Given the description of an element on the screen output the (x, y) to click on. 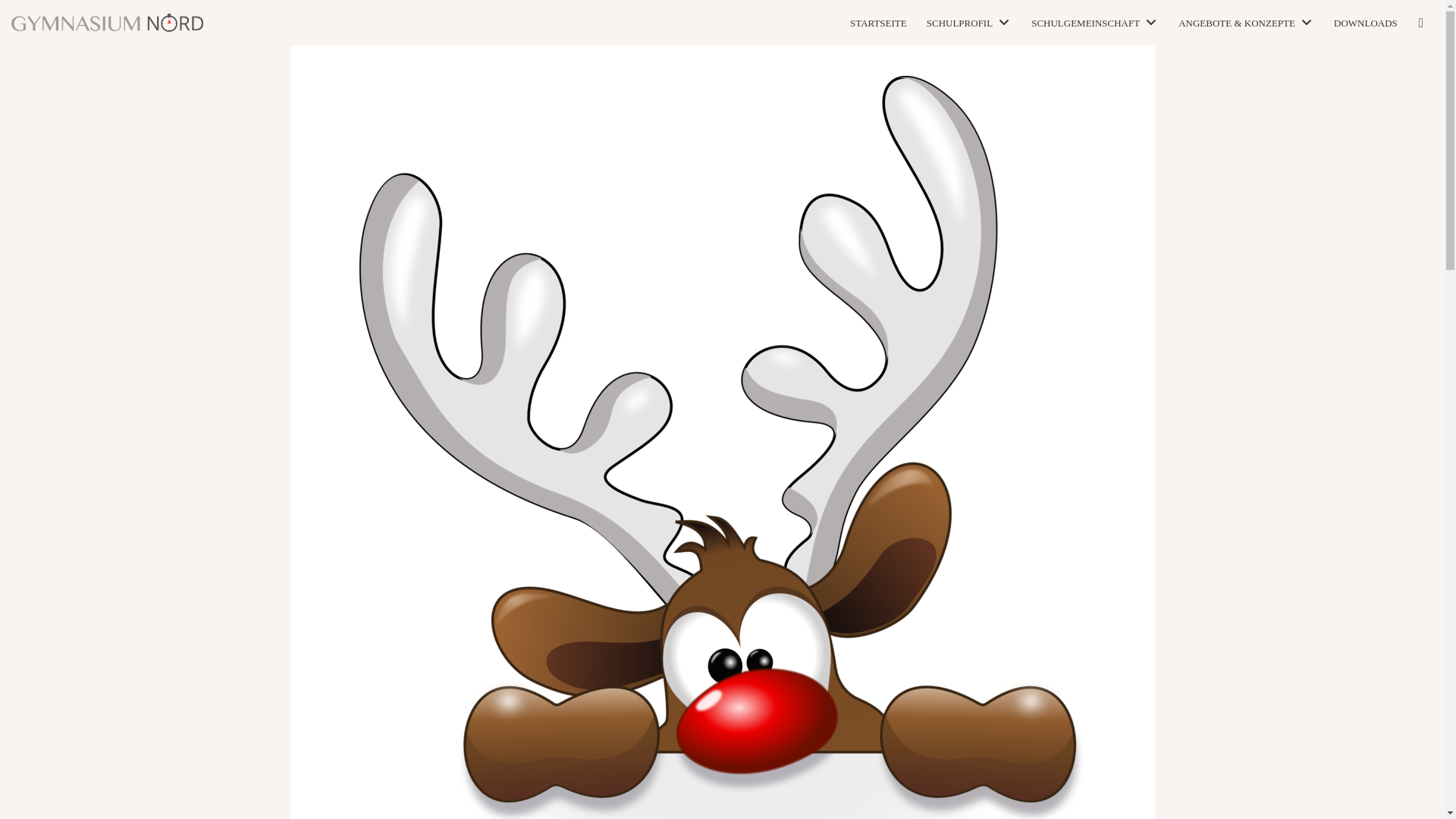
STARTSEITE (878, 22)
DOWNLOADS (1365, 22)
